Given the description of an element on the screen output the (x, y) to click on. 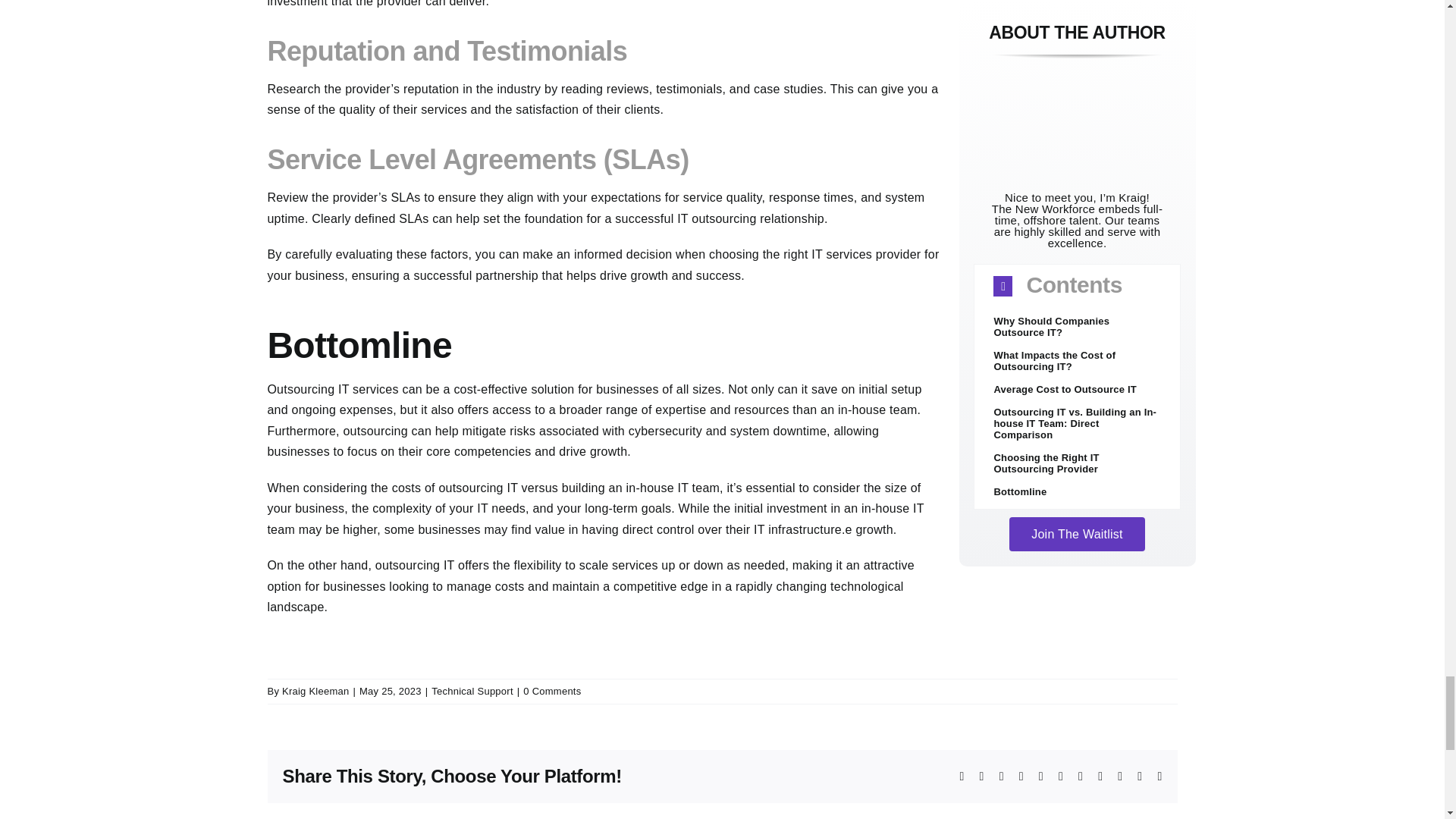
Kraig Kleeman (315, 690)
Technical Support (471, 690)
Posts by Kraig Kleeman (315, 690)
0 Comments (551, 690)
